Given the description of an element on the screen output the (x, y) to click on. 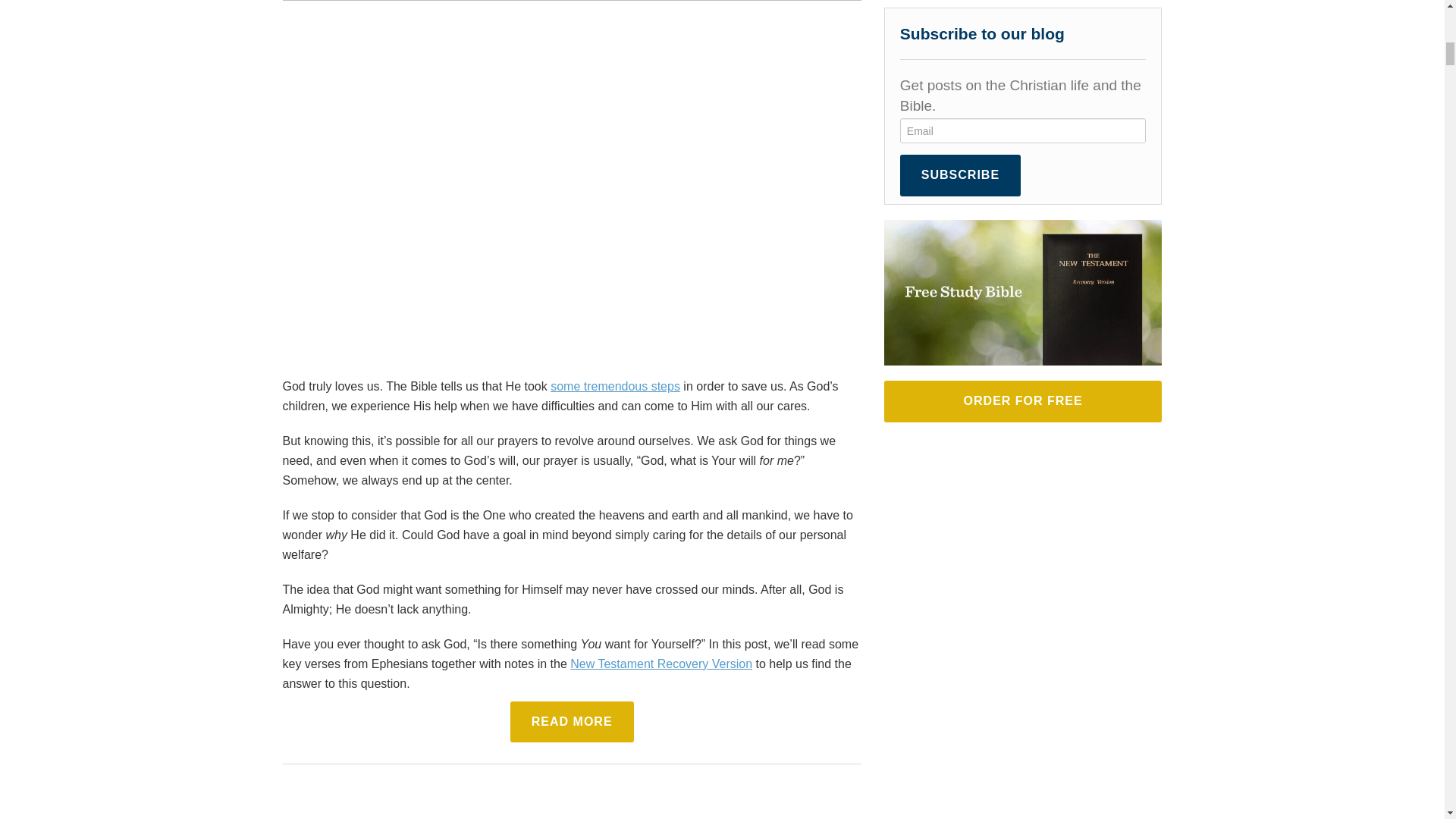
READ MORE (572, 721)
New Testament Recovery Version (661, 662)
some tremendous steps (614, 385)
